Given the description of an element on the screen output the (x, y) to click on. 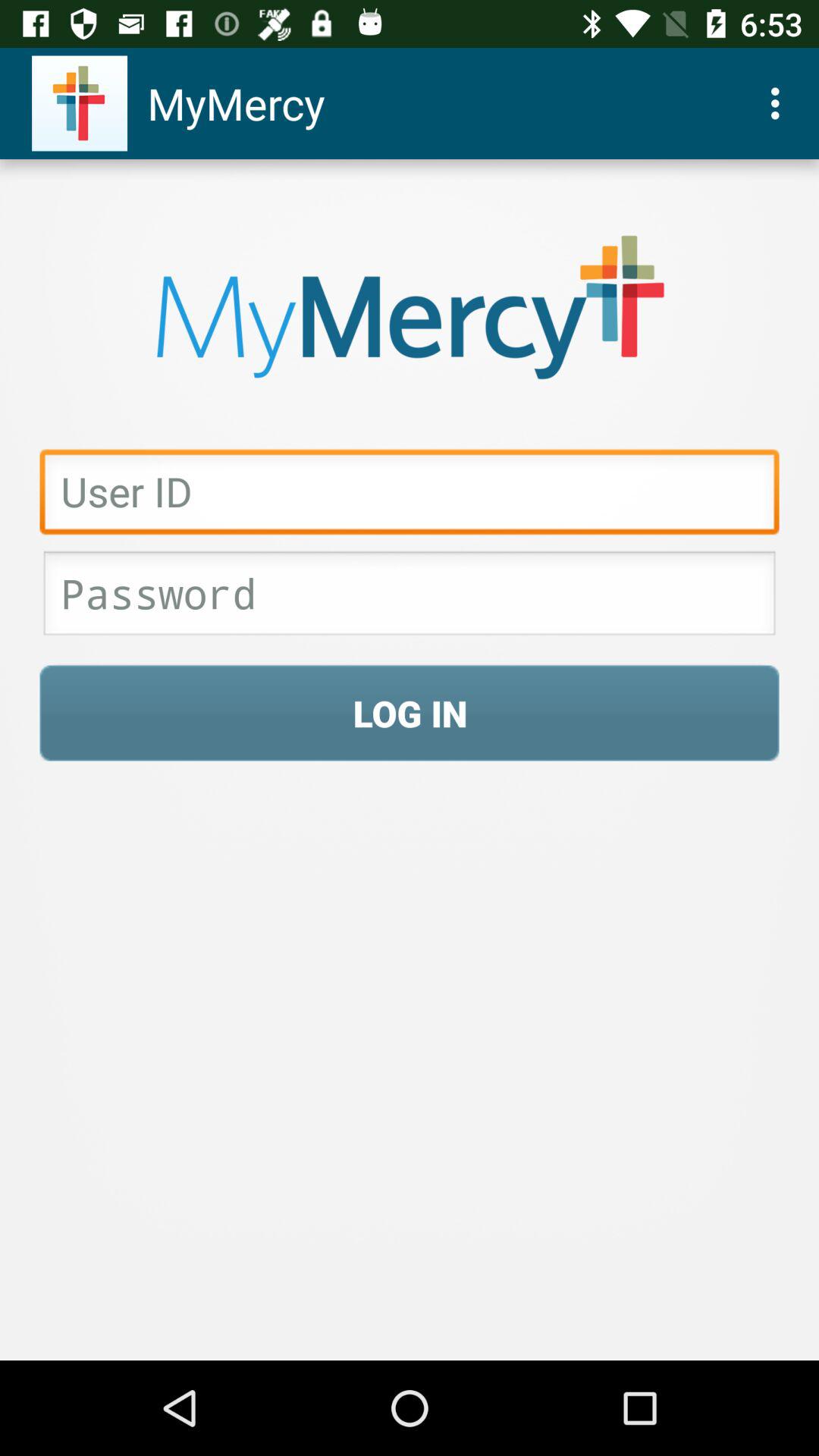
press icon at the top right corner (779, 103)
